Given the description of an element on the screen output the (x, y) to click on. 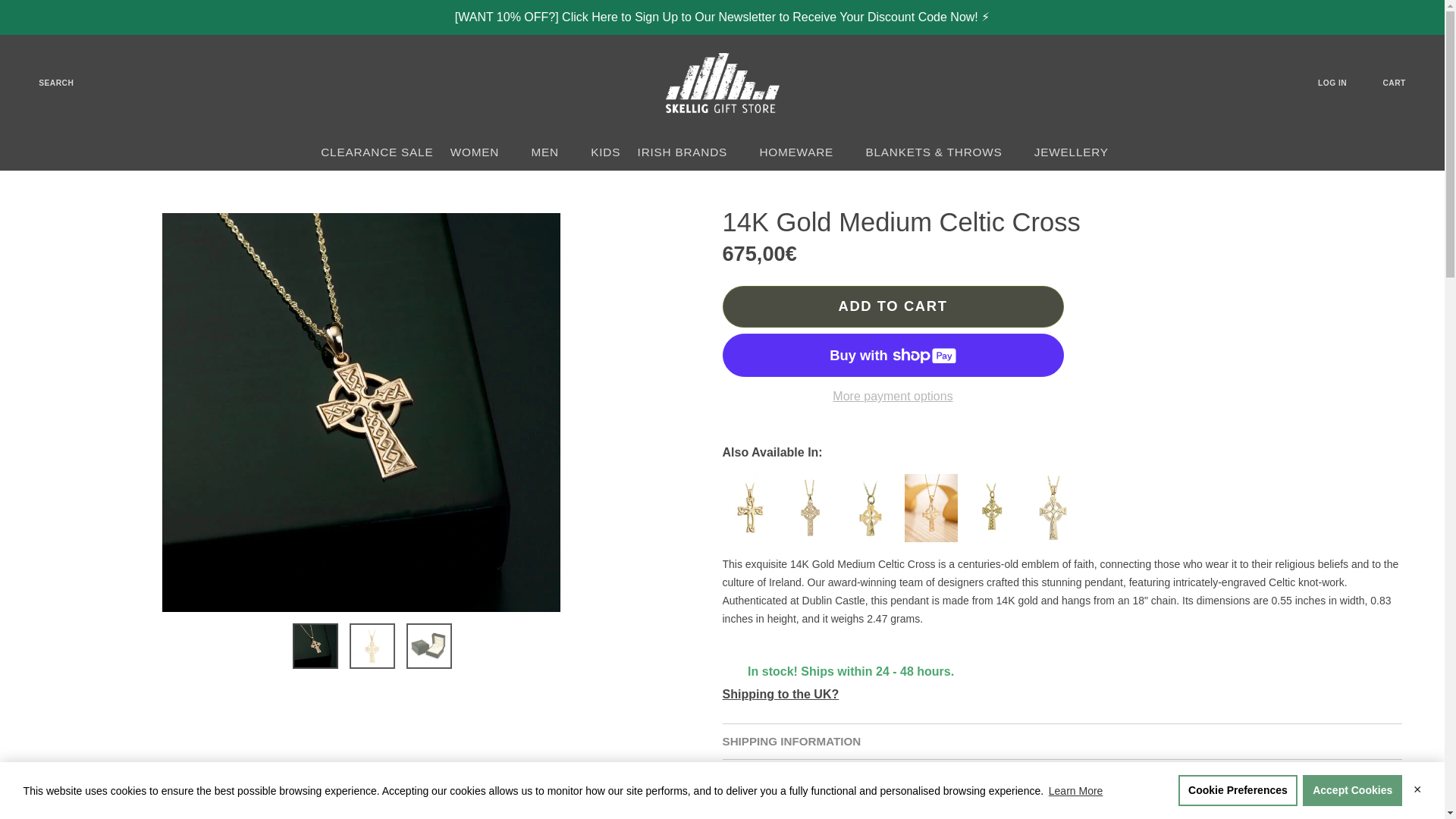
CART (1403, 83)
14K Gold Hand Engraved Celtic Cross Pendant (933, 514)
Accept Cookies (1352, 789)
14k Gold Hand Engraved Celtic Cross (873, 514)
CLEARANCE SALE (377, 151)
KIDS (605, 151)
Cookie Preferences (1237, 789)
LOG IN (1342, 83)
14K Gold Small Celtic Cross Pendant (994, 514)
14K Gold Large Celtic Cross (813, 514)
WOMEN (482, 151)
IRISH BRANDS (689, 151)
Learn More (1075, 790)
14K Gold Celtic Cross Pendant (752, 514)
SEARCH (45, 83)
